Given the description of an element on the screen output the (x, y) to click on. 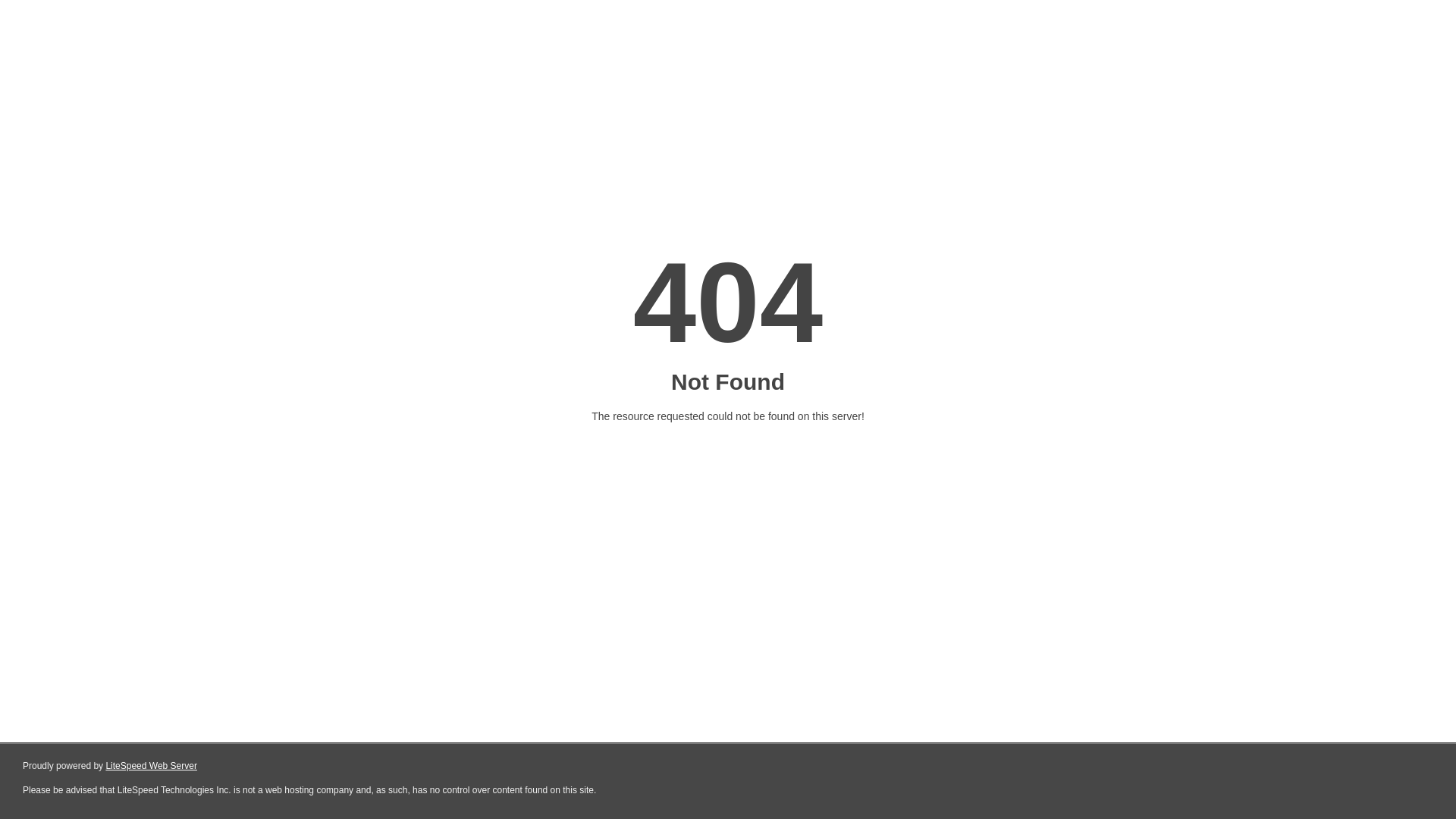
LiteSpeed Web Server Element type: text (151, 765)
